Given the description of an element on the screen output the (x, y) to click on. 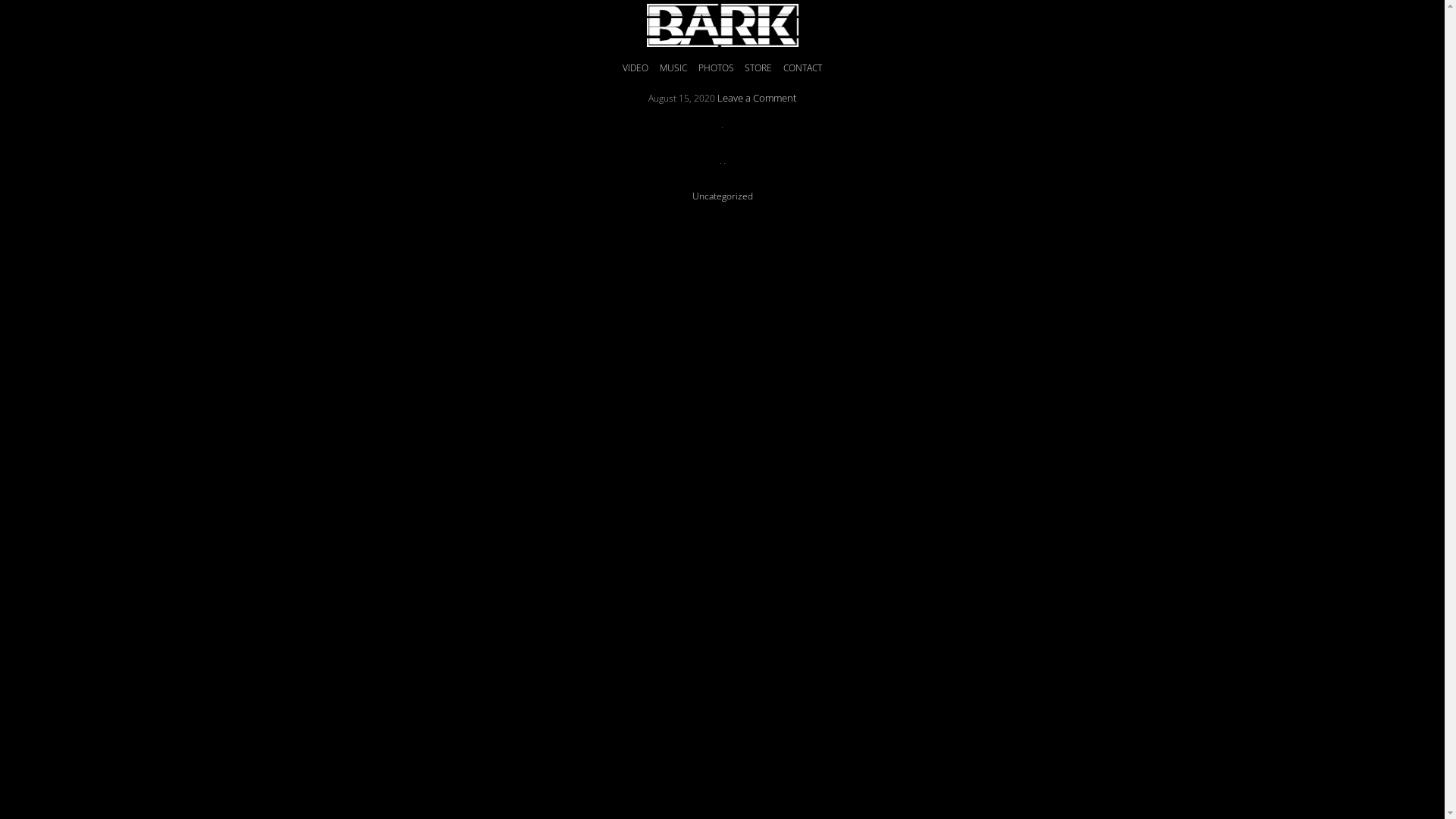
Uncategorized Element type: text (721, 195)
Leave a Comment Element type: text (756, 97)
CONTACT Element type: text (802, 67)
STORE Element type: text (757, 67)
VIDEO Element type: text (635, 67)
MUSIC Element type: text (673, 67)
PHOTOS Element type: text (715, 67)
